Given the description of an element on the screen output the (x, y) to click on. 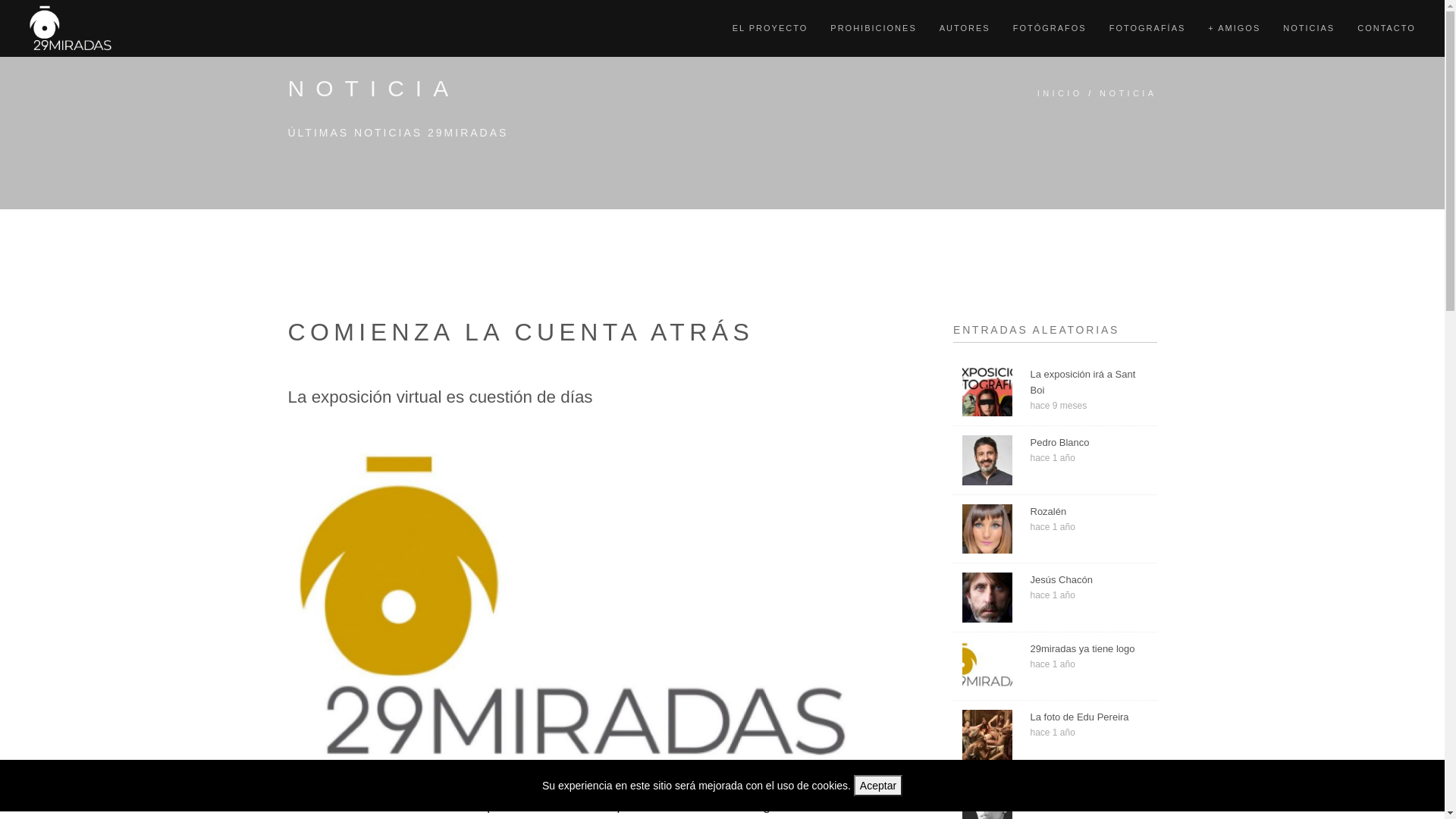
29miradas ya tiene logo Element type: text (1088, 649)
NOTICIA Element type: text (1127, 94)
CONTACTO Element type: text (1386, 28)
NOTICIAS Element type: text (1308, 28)
INICIO Element type: text (1059, 94)
Aceptar Element type: text (877, 785)
+ AMIGOS Element type: text (1234, 28)
Pedro Blanco Element type: text (1088, 443)
PROHIBICIONES Element type: text (873, 28)
Itziar Miranda Element type: text (1088, 786)
La foto de Edu Pereira Element type: text (1088, 717)
AUTORES Element type: text (964, 28)
EL PROYECTO Element type: text (770, 28)
